Given the description of an element on the screen output the (x, y) to click on. 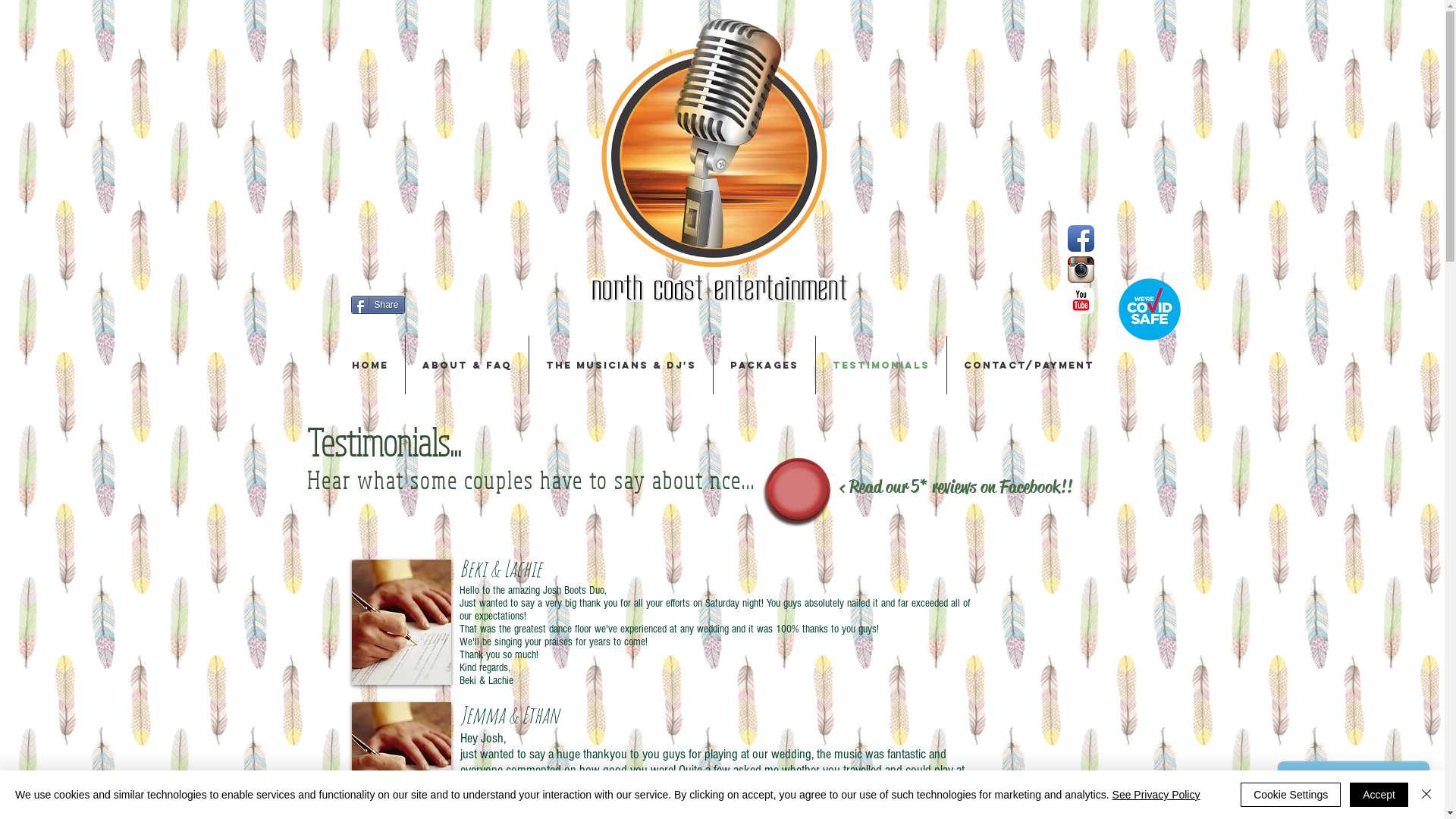
Cookie Settings Element type: text (1290, 794)
Share Element type: text (377, 304)
See Privacy Policy Element type: text (1156, 794)
NCE Logo 15.png Element type: hover (721, 162)
About & FAQ Element type: text (465, 364)
The Musicians & DJ's Element type: text (620, 364)
Home Element type: text (369, 364)
Packages Element type: text (763, 364)
Testimonials Element type: text (880, 364)
Accept Element type: text (1378, 794)
Contact/Payment Element type: text (1028, 364)
